Given the description of an element on the screen output the (x, y) to click on. 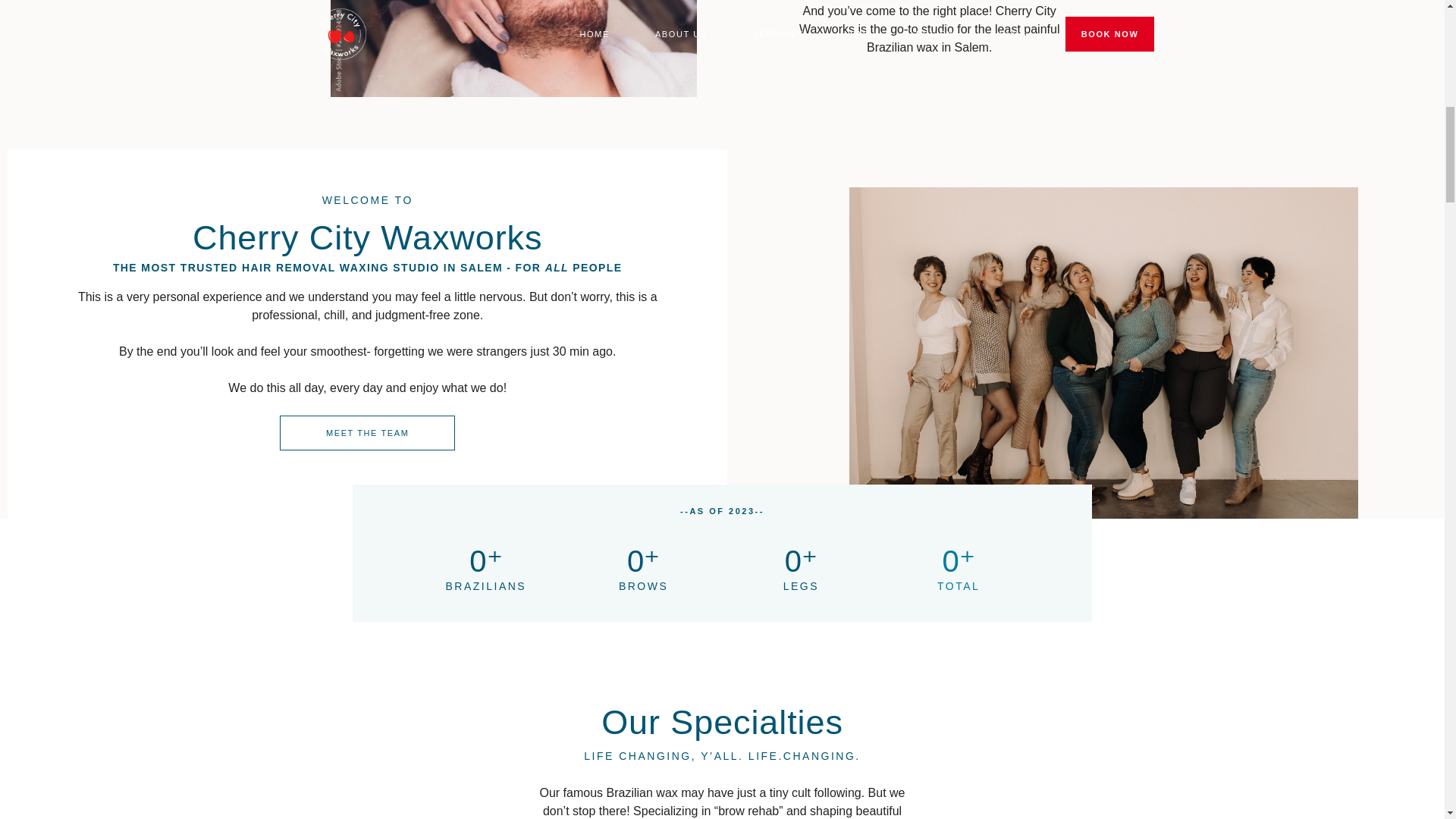
MEET THE TEAM (366, 432)
